Given the description of an element on the screen output the (x, y) to click on. 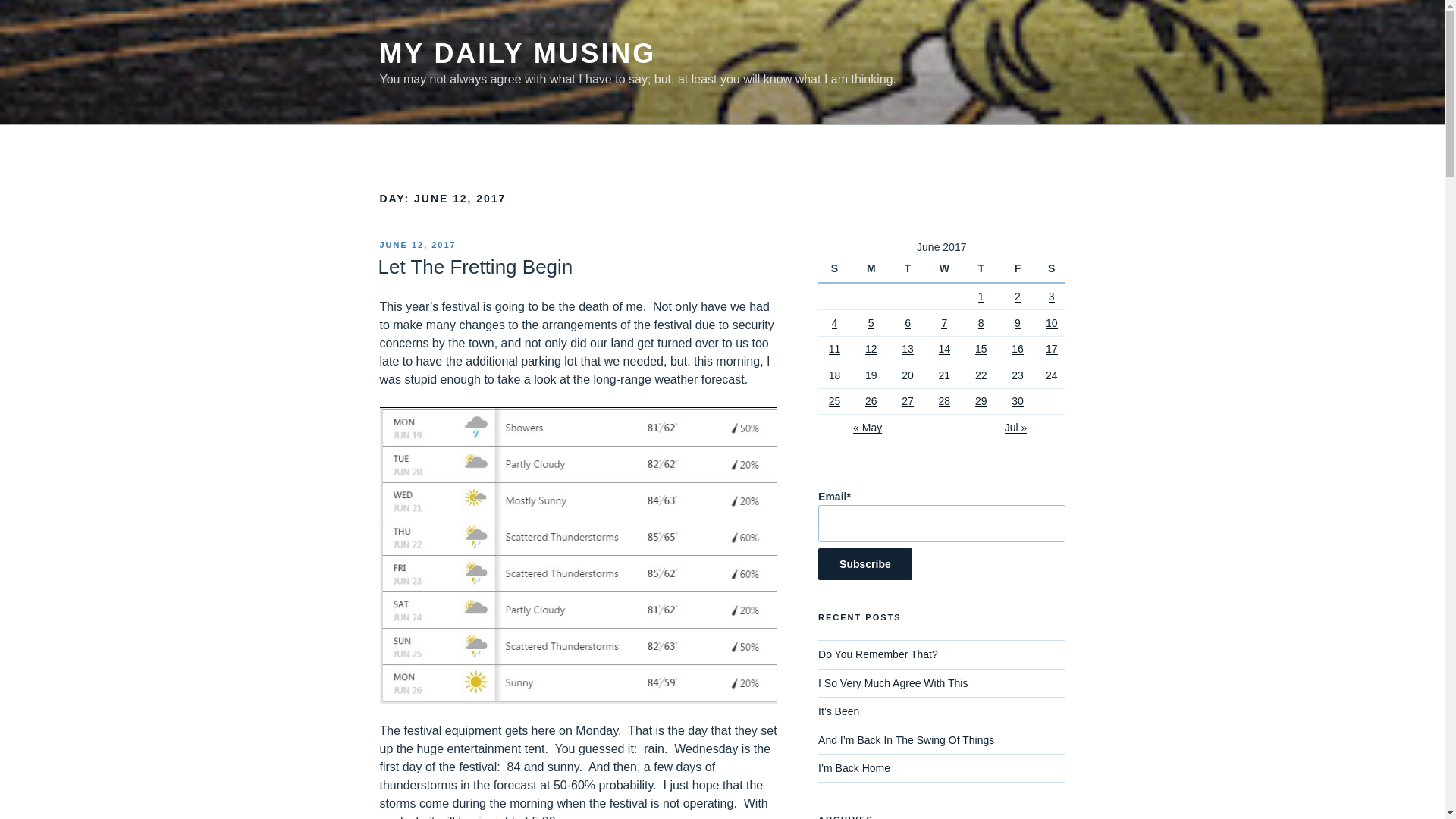
Monday (872, 268)
29 (981, 400)
1 (981, 296)
2 (1017, 296)
21 (944, 375)
3 (1051, 296)
Thursday (982, 268)
10 (1051, 322)
23 (1017, 375)
Wednesday (945, 268)
26 (870, 400)
16 (1017, 348)
9 (1017, 322)
13 (907, 348)
17 (1051, 348)
